Given the description of an element on the screen output the (x, y) to click on. 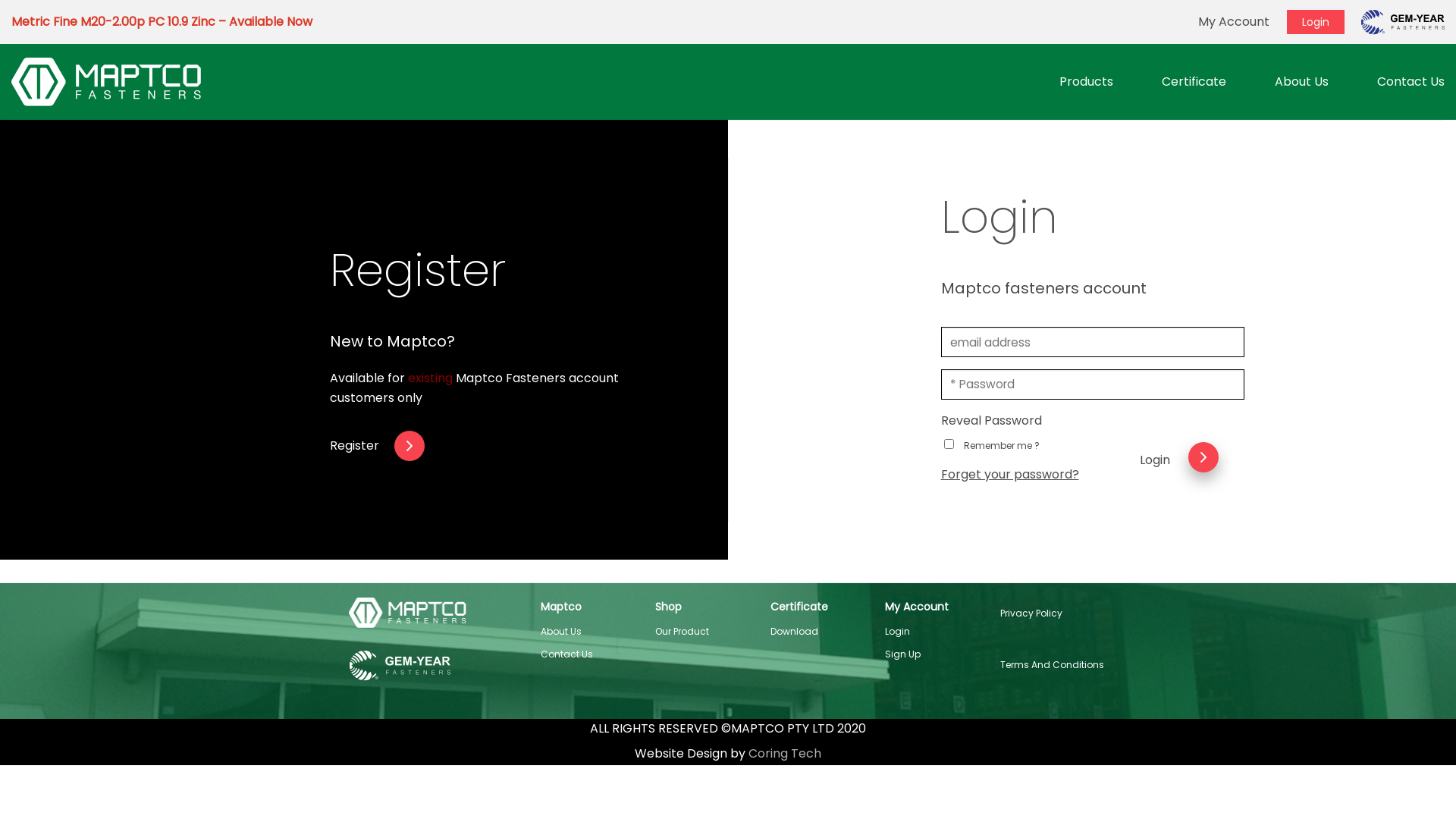
Skip to content Element type: text (0, 0)
Register Element type: text (528, 445)
Privacy Policy Element type: text (1030, 612)
Contact Us Element type: text (565, 653)
Download Element type: text (794, 630)
Forget your password? Element type: text (1009, 474)
Certificate Element type: text (1193, 81)
My Account Element type: text (1233, 21)
Reveal Password Element type: text (990, 420)
About Us Element type: text (559, 630)
Terms And Conditions Element type: text (1051, 664)
About Us Element type: text (1301, 81)
Sign Up Element type: text (902, 653)
Website Design by Coring Tech Element type: text (727, 753)
Products Element type: text (1086, 81)
Our Product Element type: text (682, 630)
Contact Us Element type: text (1410, 81)
Login Element type: text (897, 630)
Login Element type: text (1315, 21)
